Given the description of an element on the screen output the (x, y) to click on. 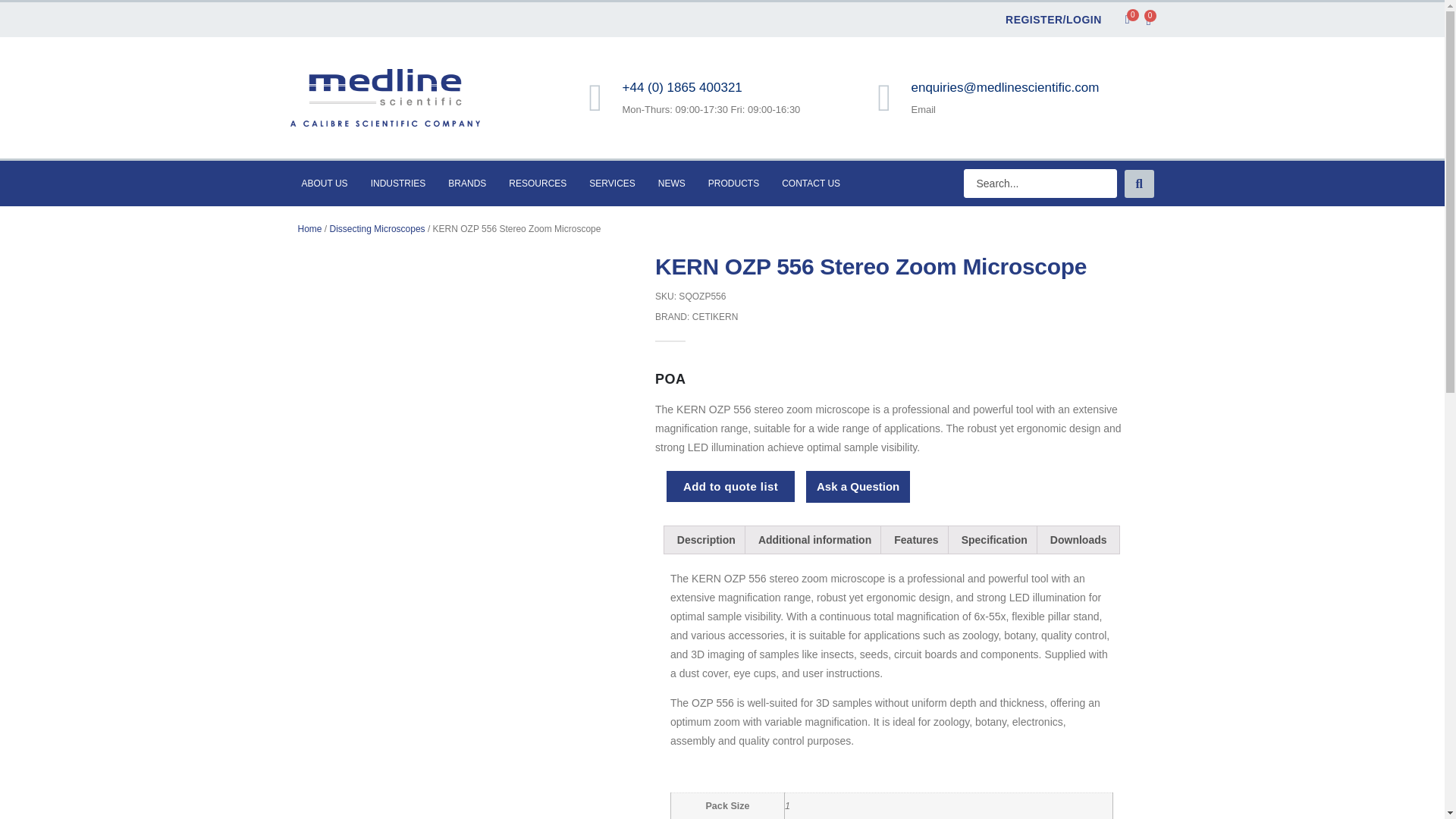
INDUSTRIES (398, 183)
ABOUT US (323, 183)
0 (1129, 19)
SERVICES (612, 183)
NEWS (671, 183)
BRANDS (466, 183)
PRODUCTS (733, 183)
RESOURCES (537, 183)
